Given the description of an element on the screen output the (x, y) to click on. 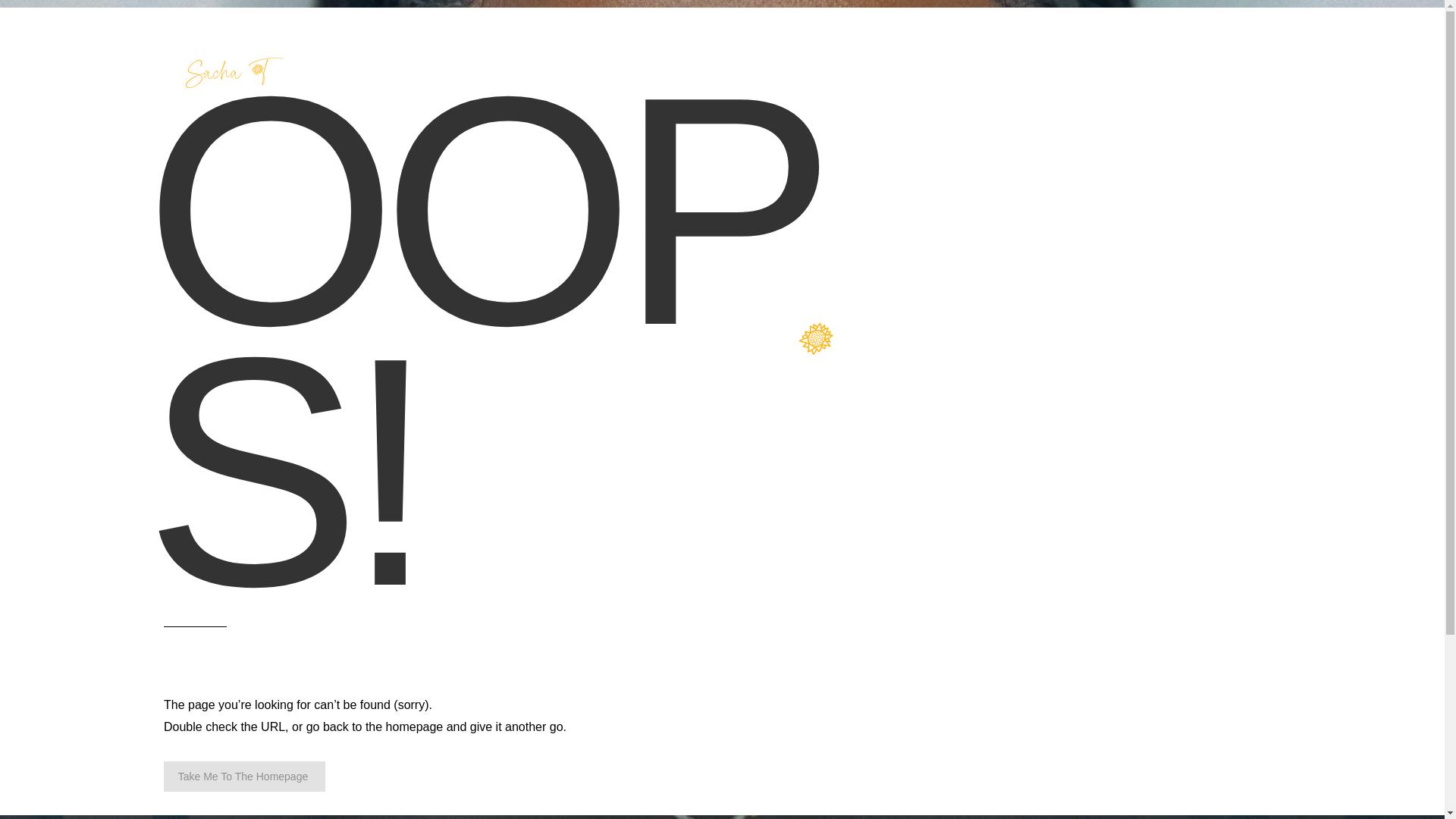
Sunflower LOGO.png (815, 337)
Take Me To The Homepage (243, 776)
